Given the description of an element on the screen output the (x, y) to click on. 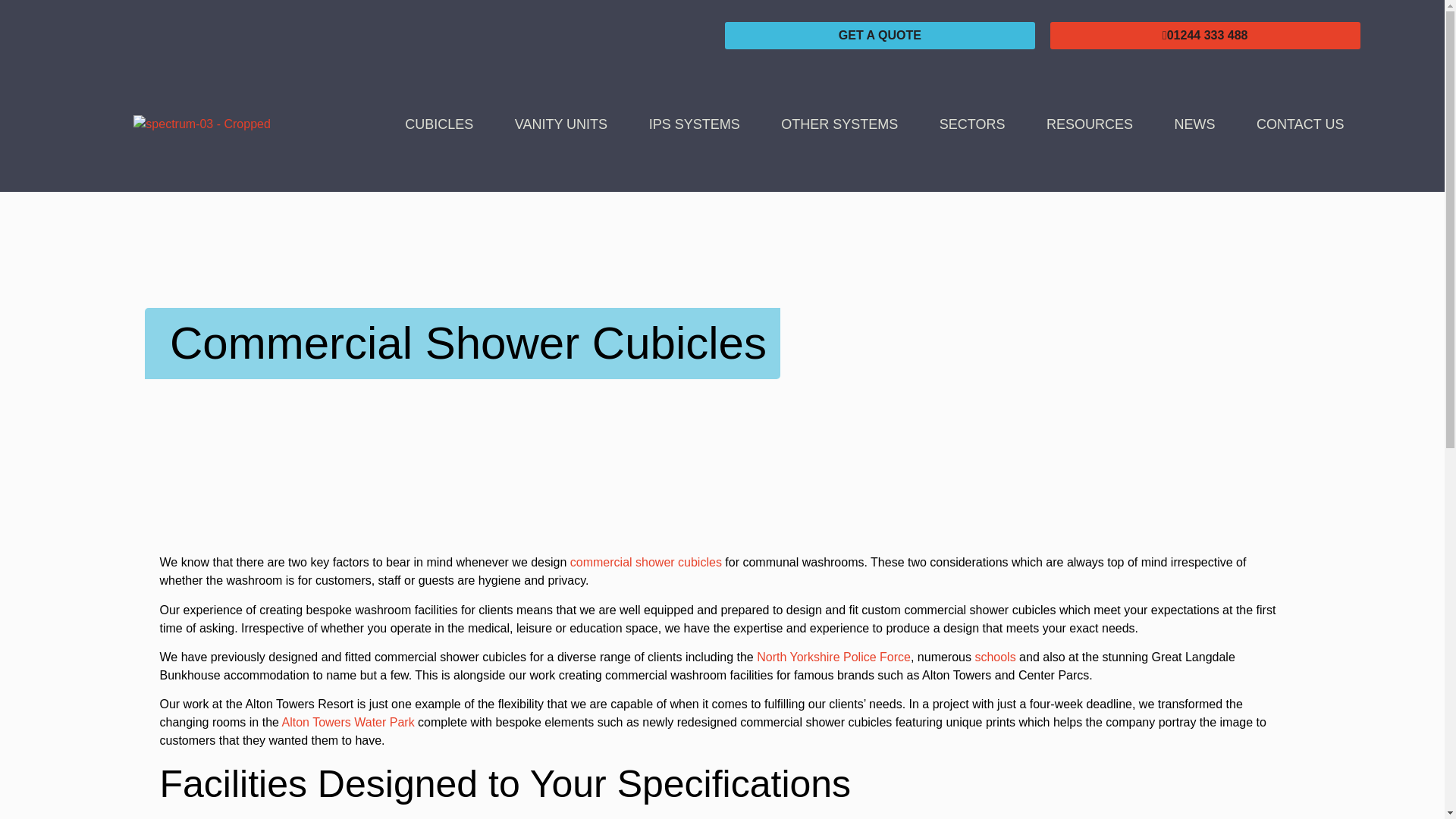
SECTORS (972, 124)
GET A QUOTE (880, 35)
CONTACT US (1300, 124)
01244 333 488 (1204, 35)
NEWS (1194, 124)
OTHER SYSTEMS (839, 124)
VANITY UNITS (560, 124)
CUBICLES (439, 124)
RESOURCES (1090, 124)
IPS SYSTEMS (693, 124)
